Given the description of an element on the screen output the (x, y) to click on. 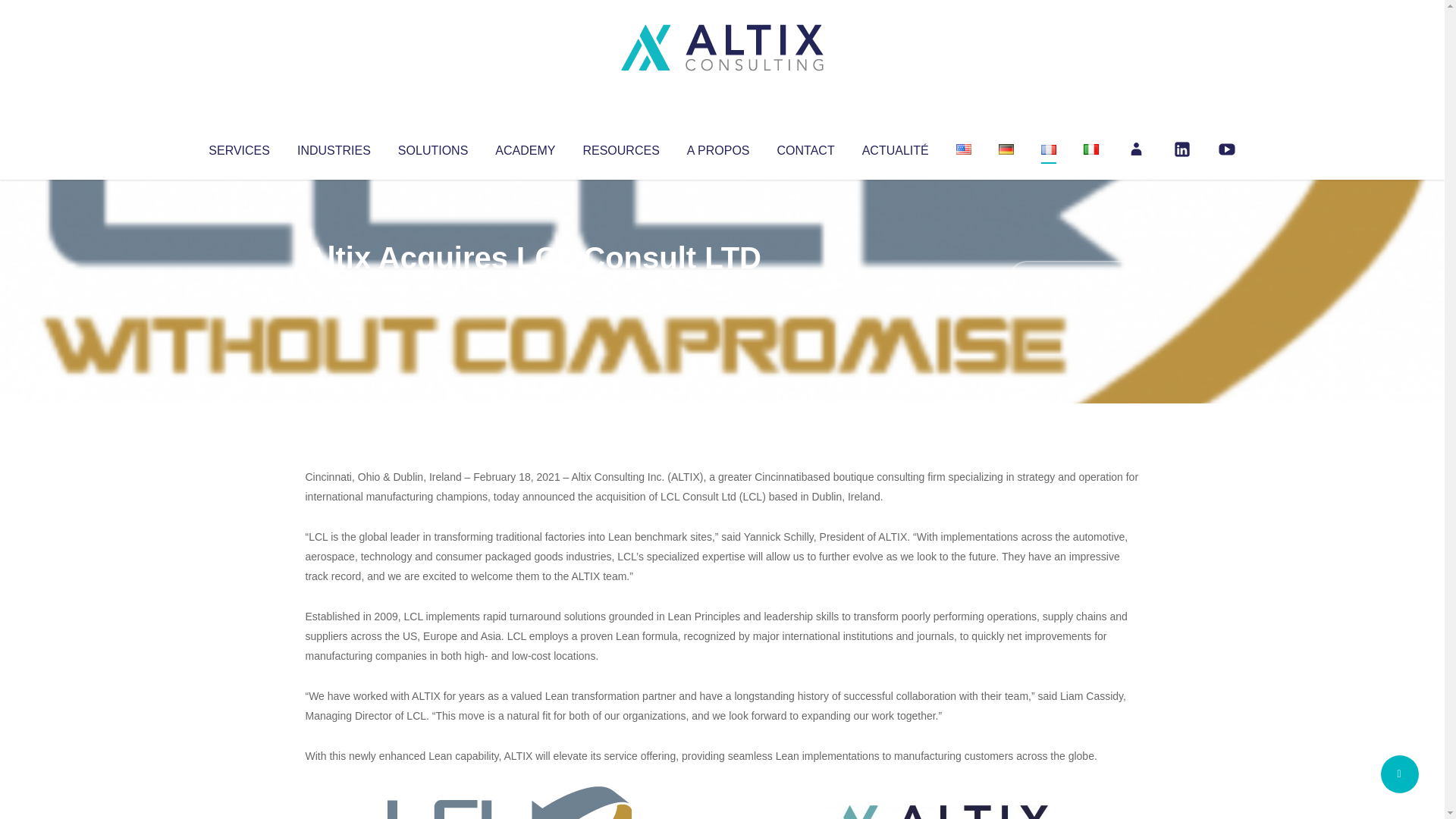
No Comments (1073, 278)
Altix (333, 287)
RESOURCES (620, 146)
ACADEMY (524, 146)
SERVICES (238, 146)
INDUSTRIES (334, 146)
Uncategorized (530, 287)
Articles par Altix (333, 287)
SOLUTIONS (432, 146)
A PROPOS (718, 146)
